Given the description of an element on the screen output the (x, y) to click on. 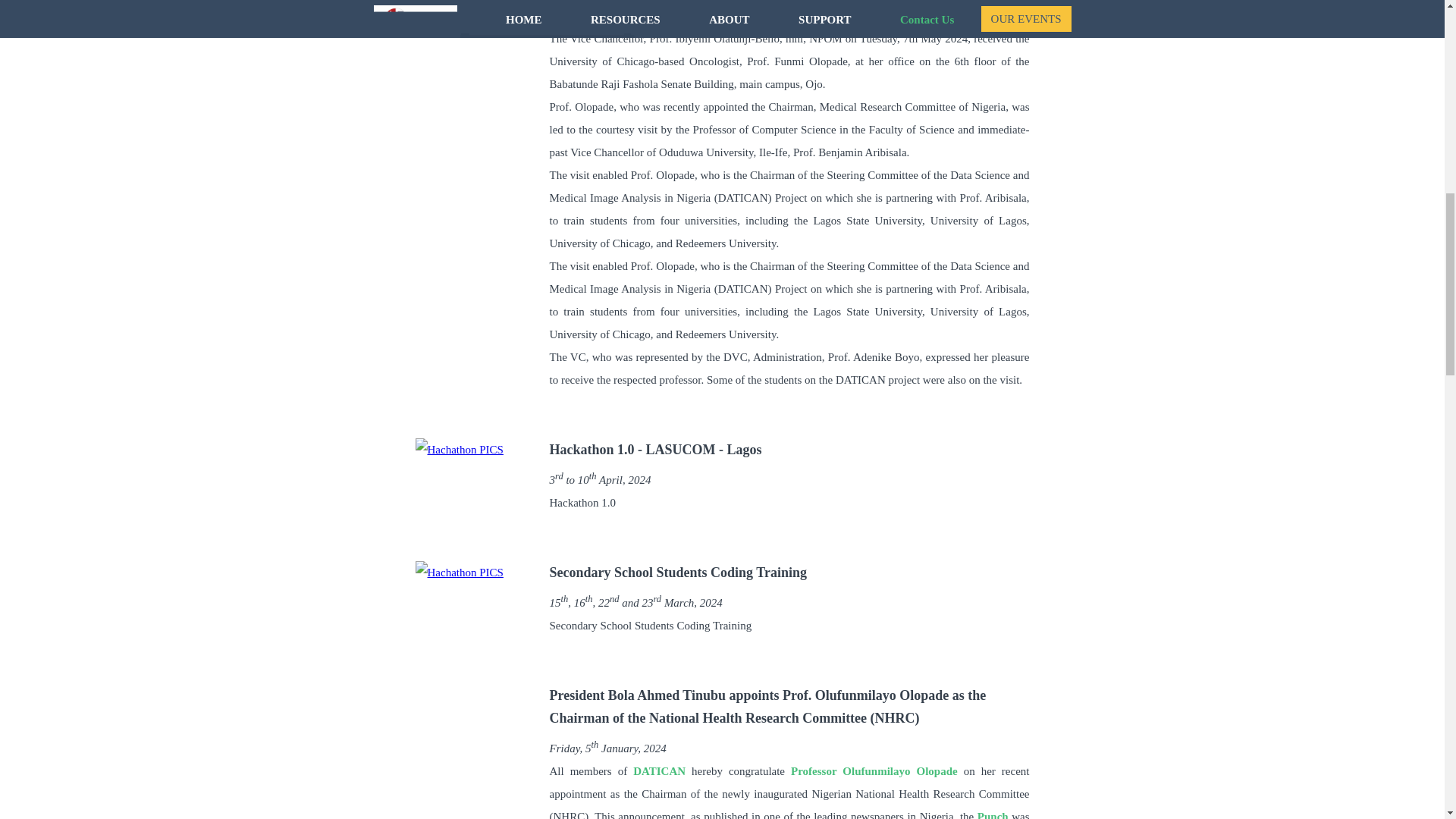
Professor Olufunmilayo Olopade (874, 770)
Punch (992, 814)
DATICAN (659, 770)
